Given the description of an element on the screen output the (x, y) to click on. 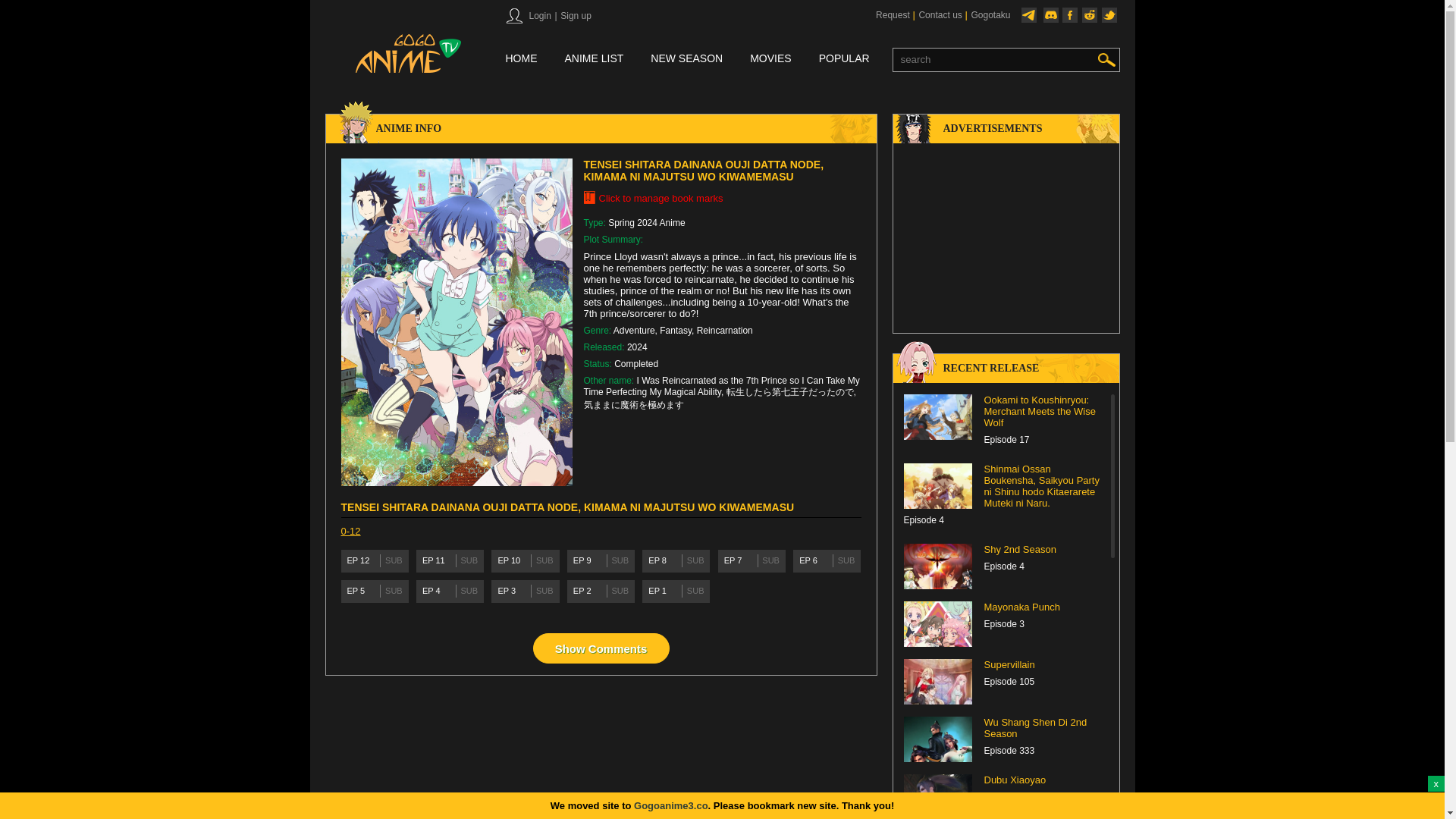
Popular (843, 59)
Sign up (575, 15)
New season (686, 59)
Home (521, 59)
Movies (769, 59)
ANIME LIST (593, 59)
Gogotaku (989, 14)
POPULAR (843, 59)
MOVIES (769, 59)
Contact us (938, 14)
login (538, 15)
Anime list (593, 59)
Login (538, 15)
HOME (521, 59)
Request (892, 14)
